Given the description of an element on the screen output the (x, y) to click on. 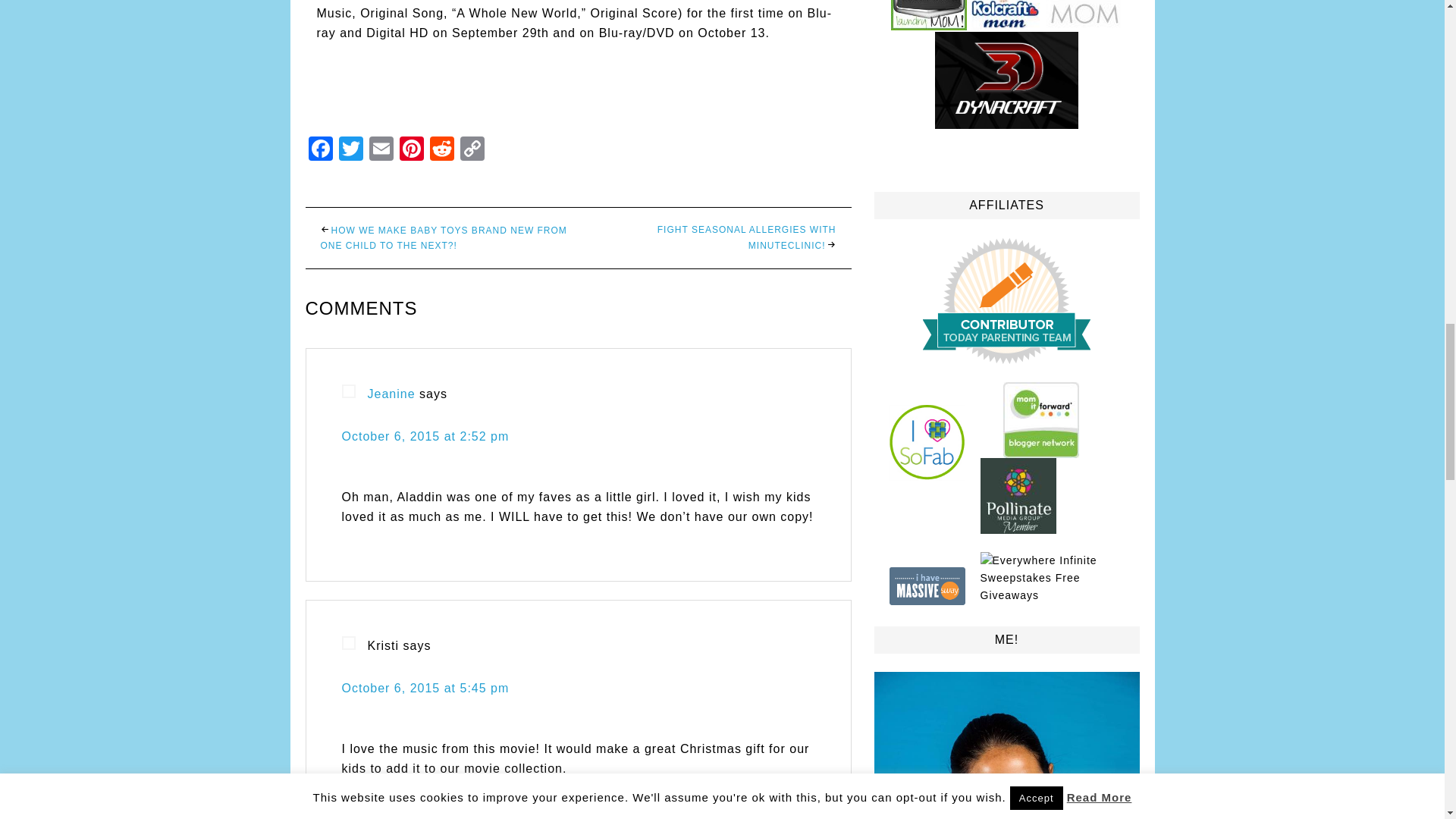
Email (380, 150)
HOW WE MAKE BABY TOYS BRAND NEW FROM ONE CHILD TO THE NEXT?! (443, 237)
Pinterest (411, 150)
maytag-laundry-badge-1 (928, 15)
Reddit (441, 150)
Reddit (441, 150)
Copy Link (471, 150)
Facebook (319, 150)
Twitter (349, 150)
Copy Link (471, 150)
Facebook (319, 150)
Email (380, 150)
Infinite Sweepstakes (1037, 568)
Pinterest (411, 150)
Twitter (349, 150)
